Given the description of an element on the screen output the (x, y) to click on. 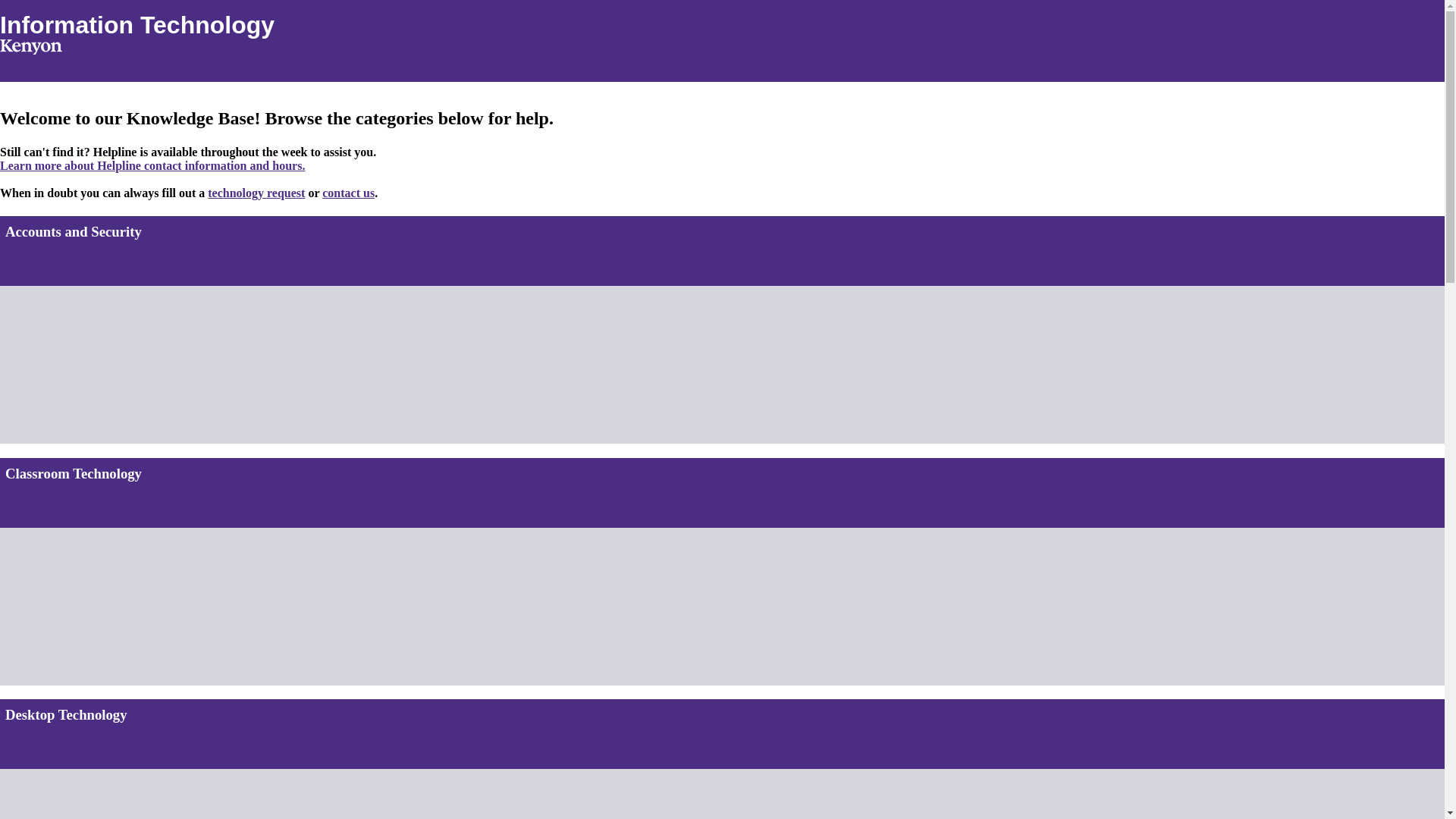
Learn more about Helpline contact information and hours. (152, 164)
technology request (256, 192)
Kenyon College (31, 46)
contact us (347, 192)
Information Technology (137, 24)
